Given the description of an element on the screen output the (x, y) to click on. 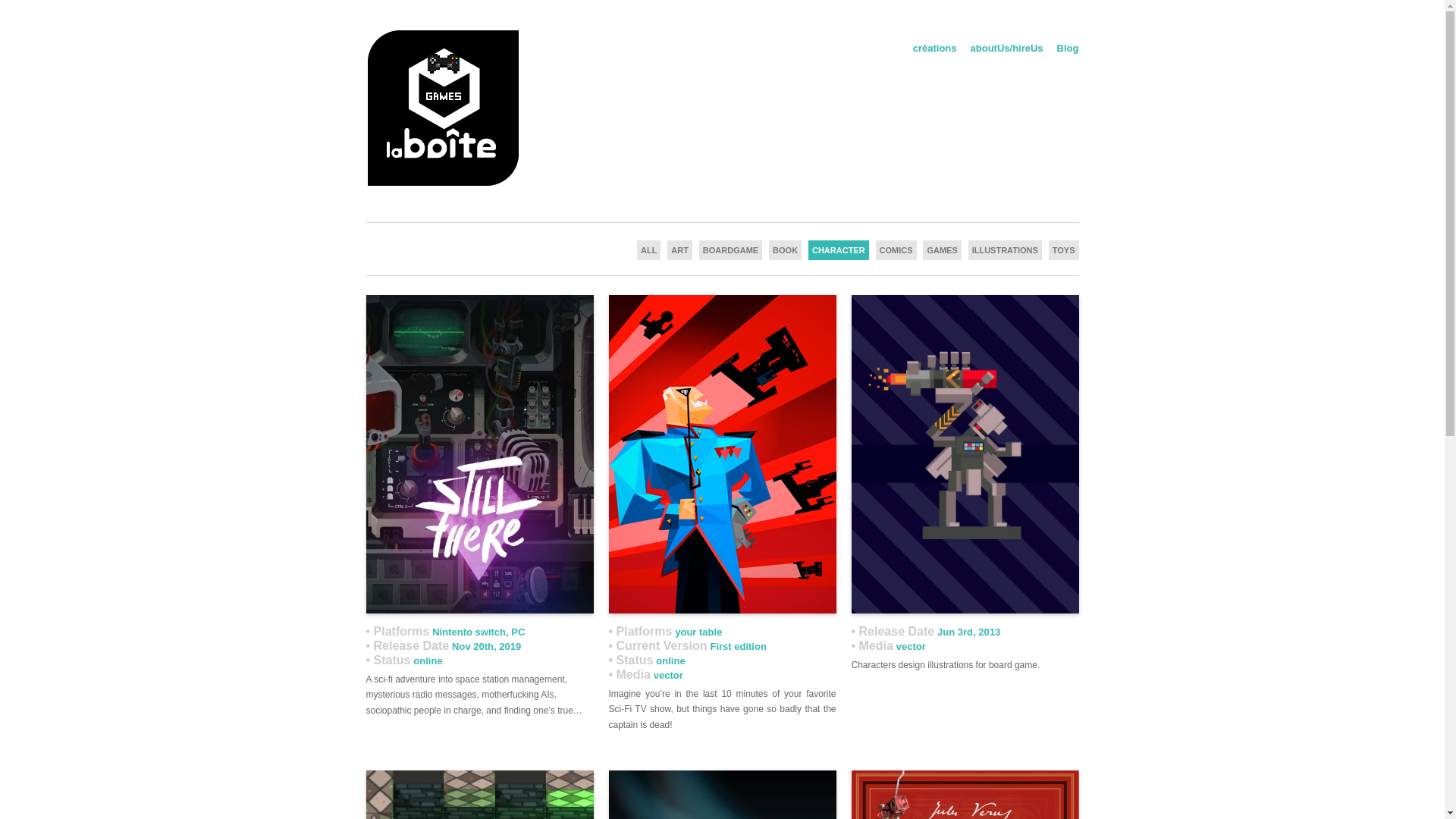
COMICS (896, 250)
CHARACTER (838, 250)
GAMES (941, 250)
ALL (649, 250)
ILLUSTRATIONS (1005, 250)
Blog (1067, 47)
ALL (649, 250)
la boite games (441, 182)
TOYS (1063, 250)
BOARDGAME (729, 250)
ART (679, 250)
BOOK (785, 250)
